Given the description of an element on the screen output the (x, y) to click on. 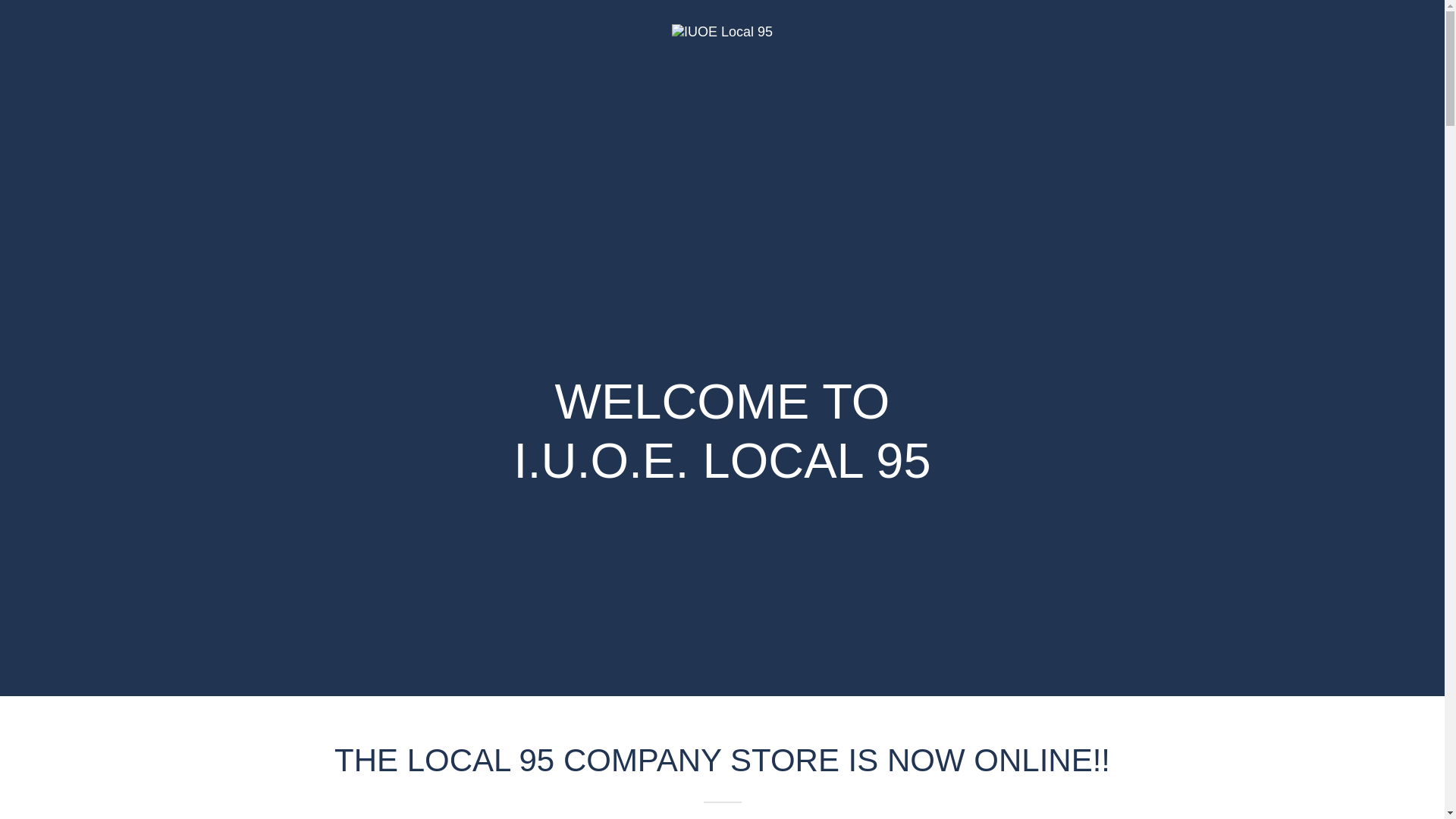
IUOE Local 95 (721, 29)
